Given the description of an element on the screen output the (x, y) to click on. 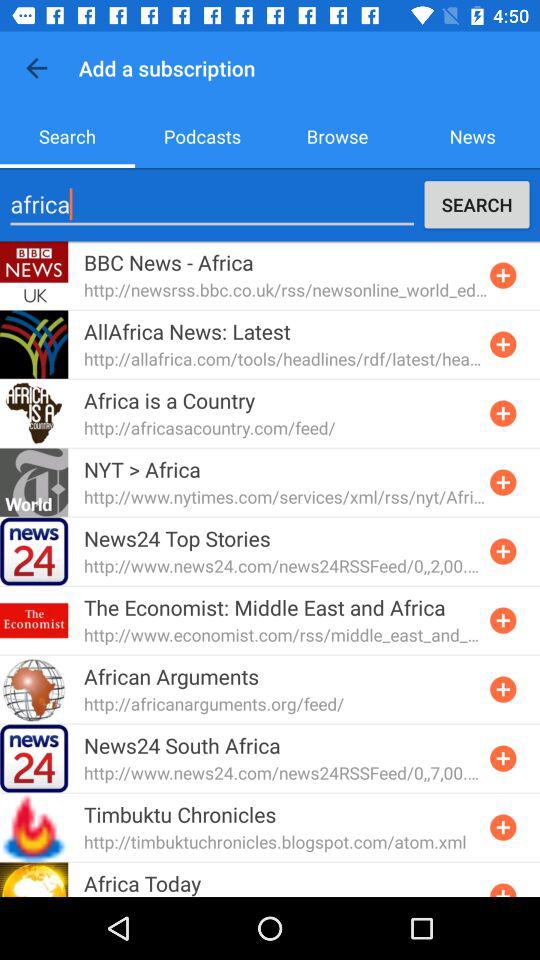
select the item to the left of add a subscription app (36, 68)
